Given the description of an element on the screen output the (x, y) to click on. 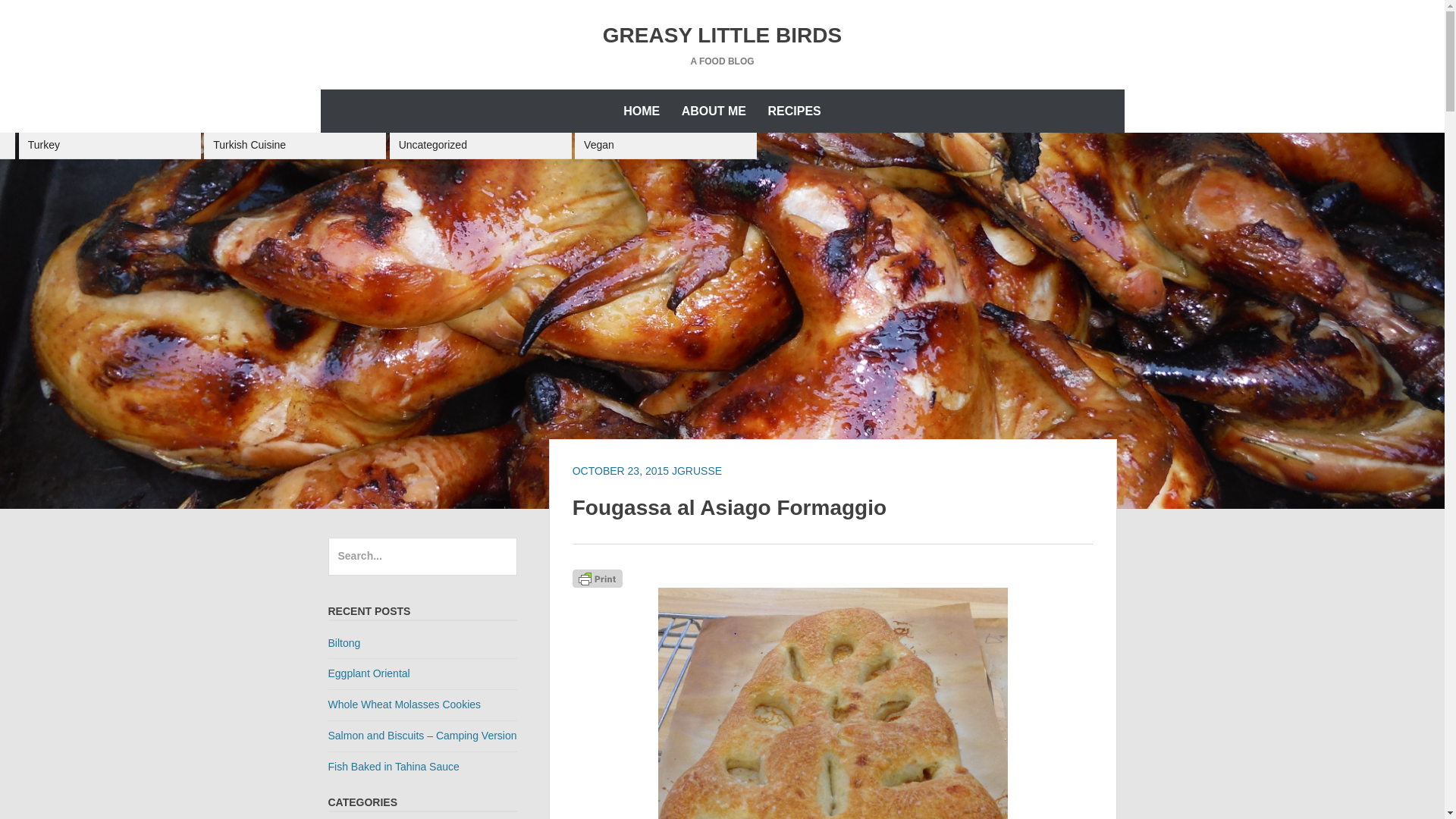
HOME (641, 111)
RECIPES (793, 111)
GREASY LITTLE BIRDS (721, 34)
Search for: (421, 556)
ABOUT ME (713, 111)
